Given the description of an element on the screen output the (x, y) to click on. 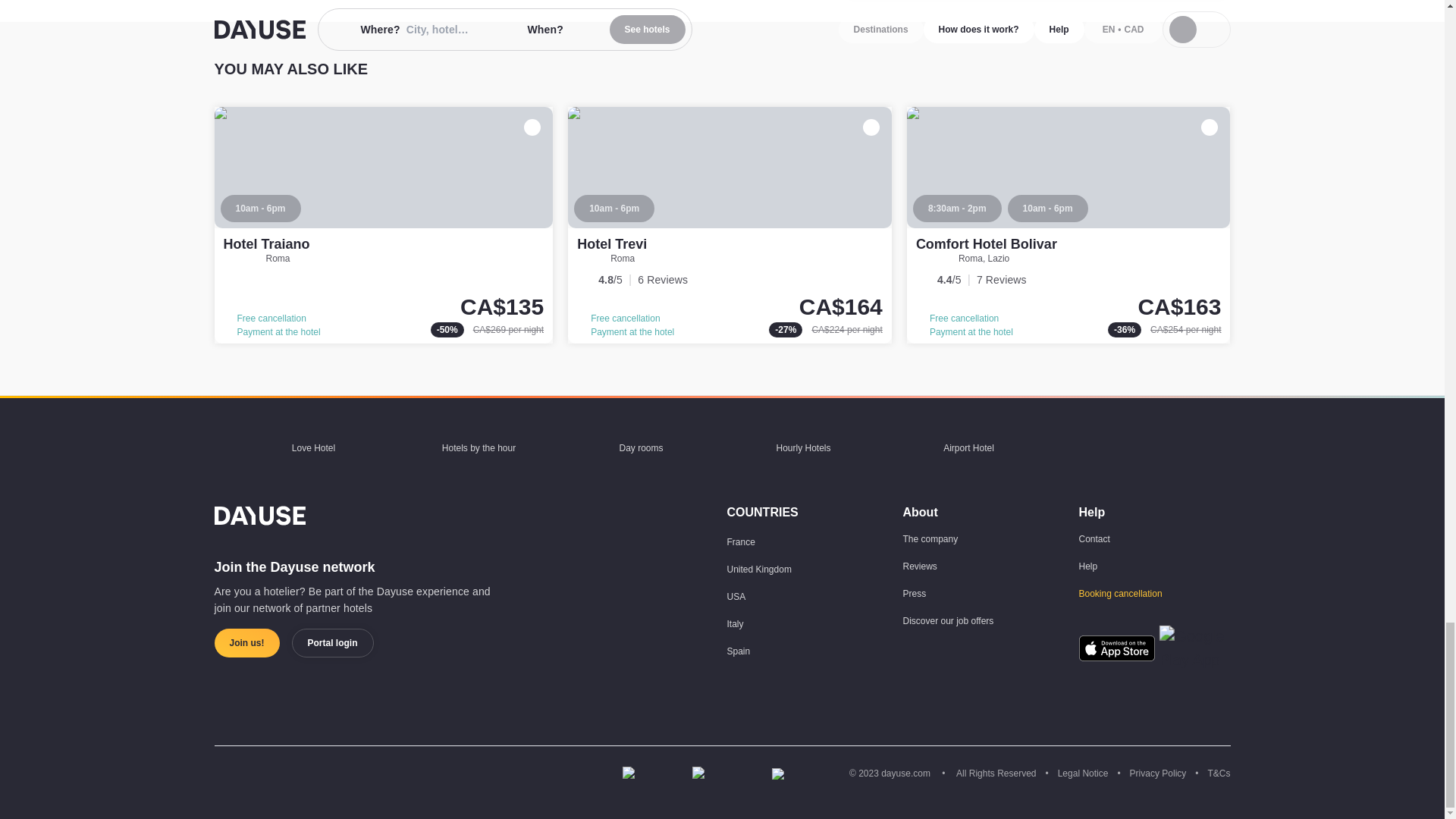
Comfort Hotel Bolivar (986, 243)
Hotel Trevi (729, 225)
Hotel Traiano (383, 225)
Comfort Hotel Bolivar (1068, 225)
Hotel Trevi (611, 243)
Hotel Traiano (265, 243)
